Given the description of an element on the screen output the (x, y) to click on. 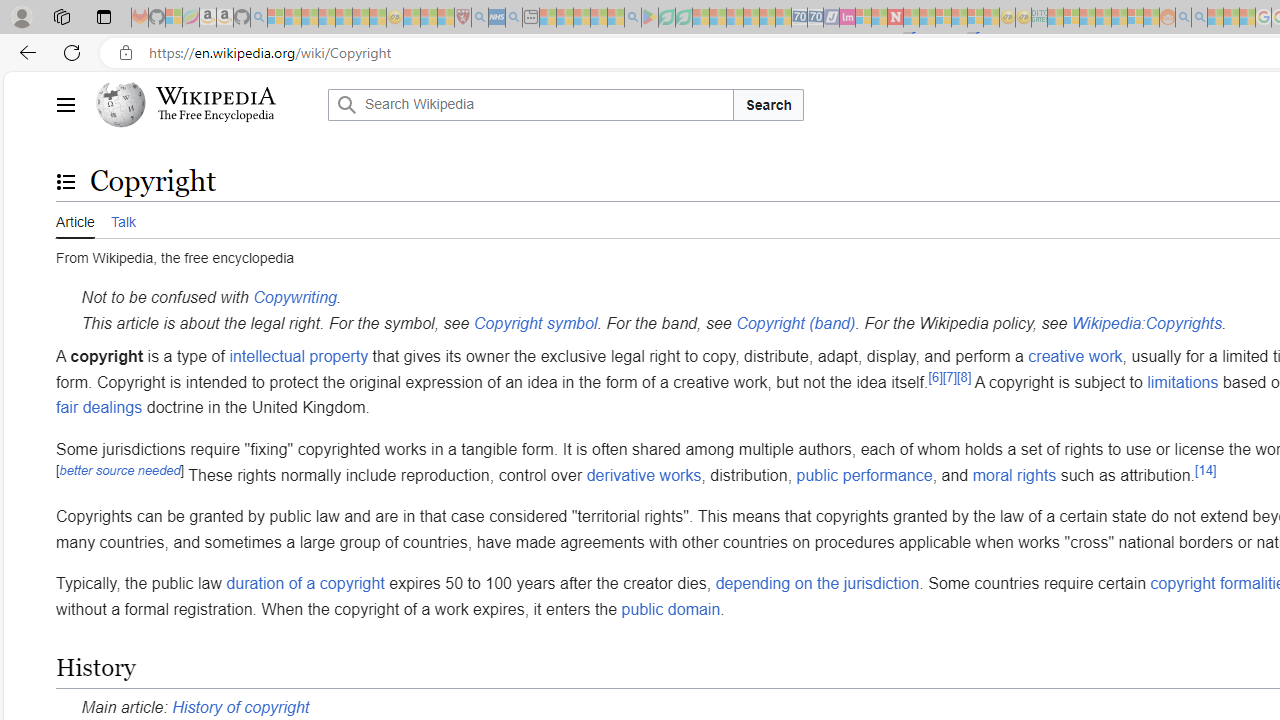
Trusted Community Engagement and Contributions | Guidelines (911, 17)
Article (75, 219)
utah sues federal government - Search - Sleeping (513, 17)
Microsoft account | Privacy - Sleeping (1071, 17)
creative work (1074, 356)
Copyright (band) (796, 322)
[6] (935, 376)
Search (768, 104)
Article (75, 219)
intellectual property (298, 356)
